Given the description of an element on the screen output the (x, y) to click on. 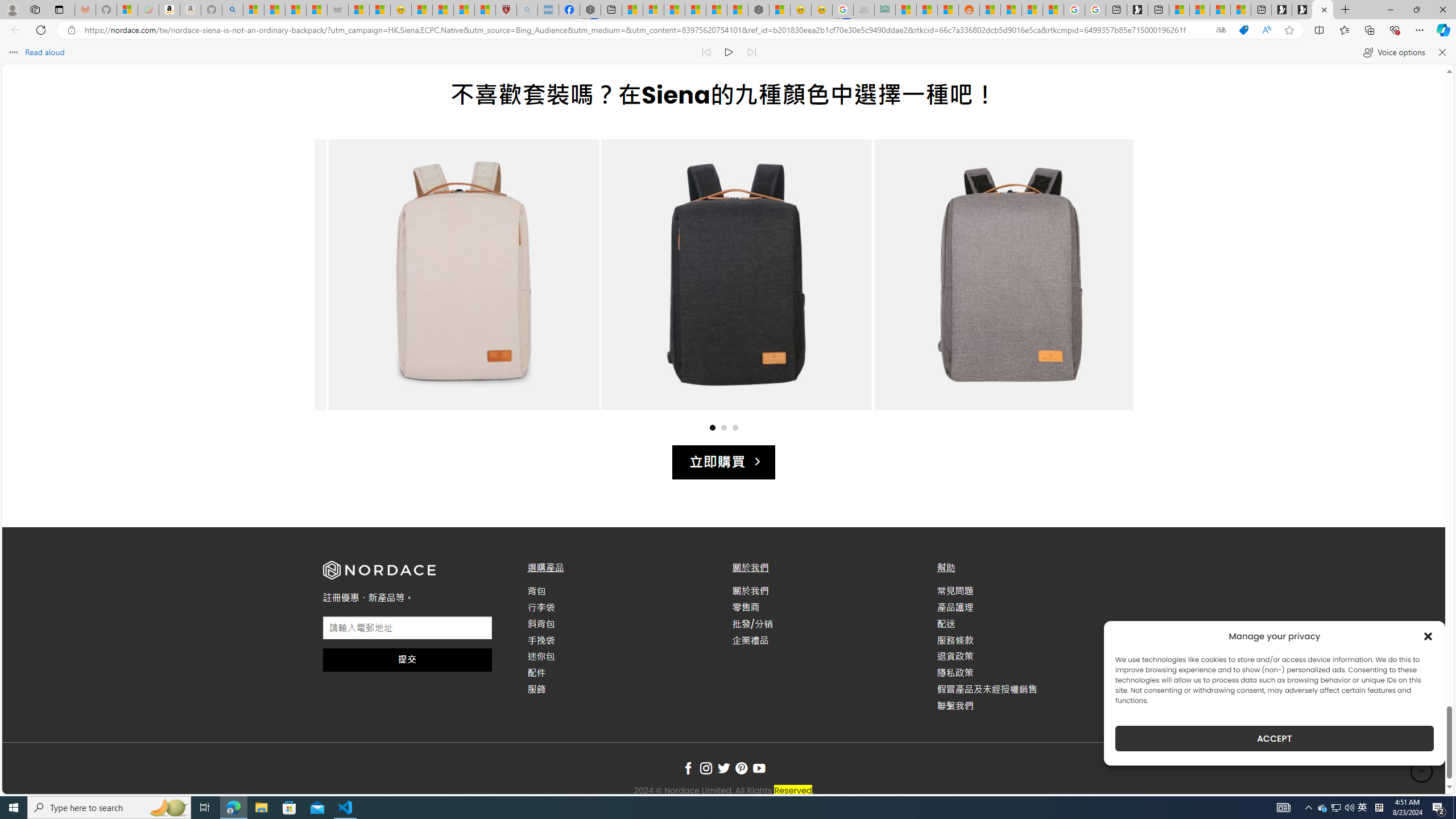
Read previous paragraph (705, 52)
This site has coupons! Shopping in Microsoft Edge (1243, 29)
Page dot 2 (723, 427)
Show translate options (1220, 29)
Page dot 3 (735, 427)
Close read aloud (1441, 52)
Go to top (1421, 771)
Previous (344, 285)
